Given the description of an element on the screen output the (x, y) to click on. 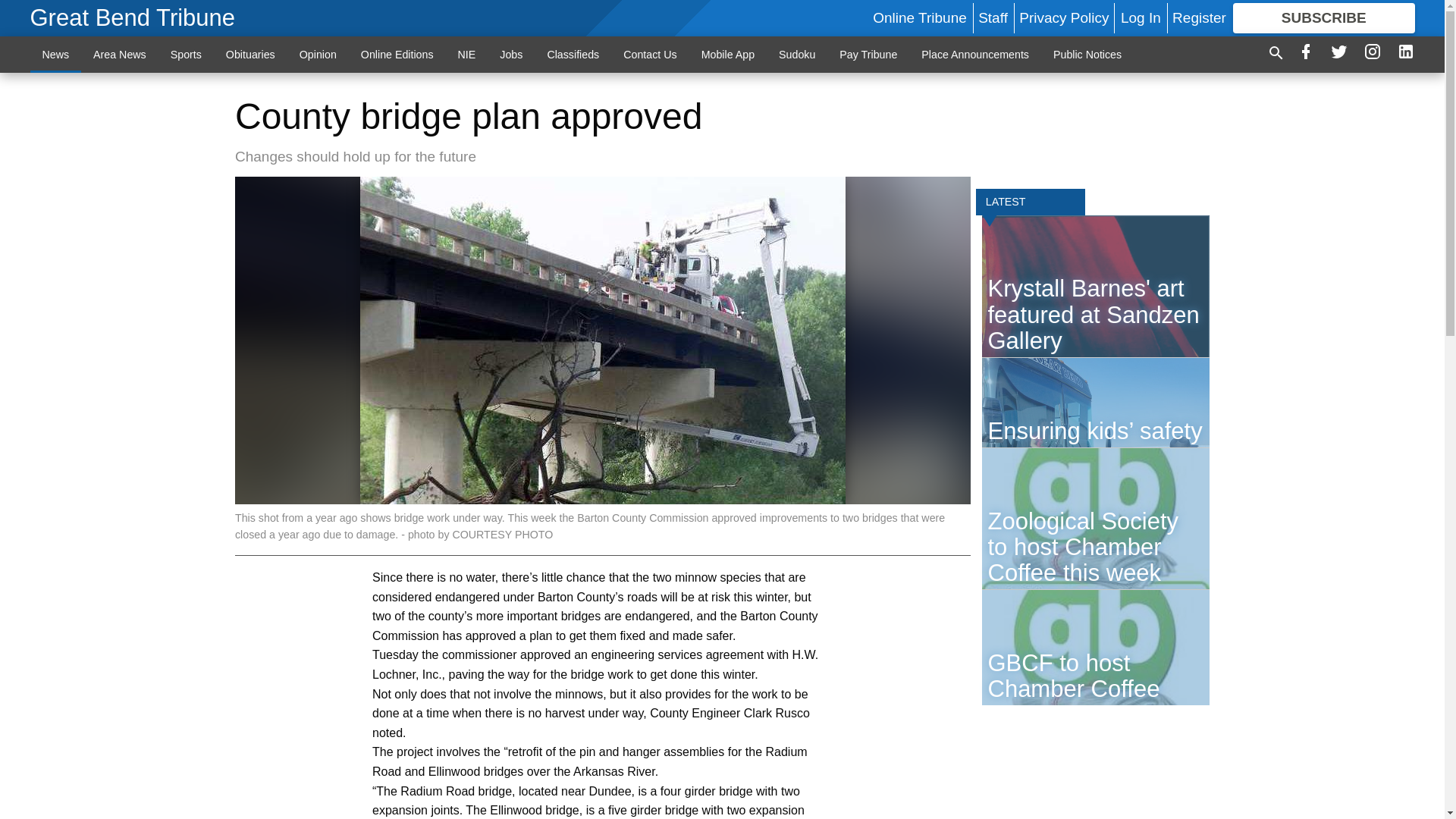
Public Notices (1087, 54)
Pay Tribune (867, 54)
Contact Us (649, 54)
Area News (119, 54)
Great Bend Tribune (132, 17)
Online Tribune (919, 17)
Sudoku (797, 54)
Obituaries (250, 54)
Register (1198, 17)
Privacy Policy (1063, 17)
Place Announcements (974, 54)
Online Editions (397, 54)
Sports (186, 54)
News (55, 54)
Opinion (317, 54)
